Given the description of an element on the screen output the (x, y) to click on. 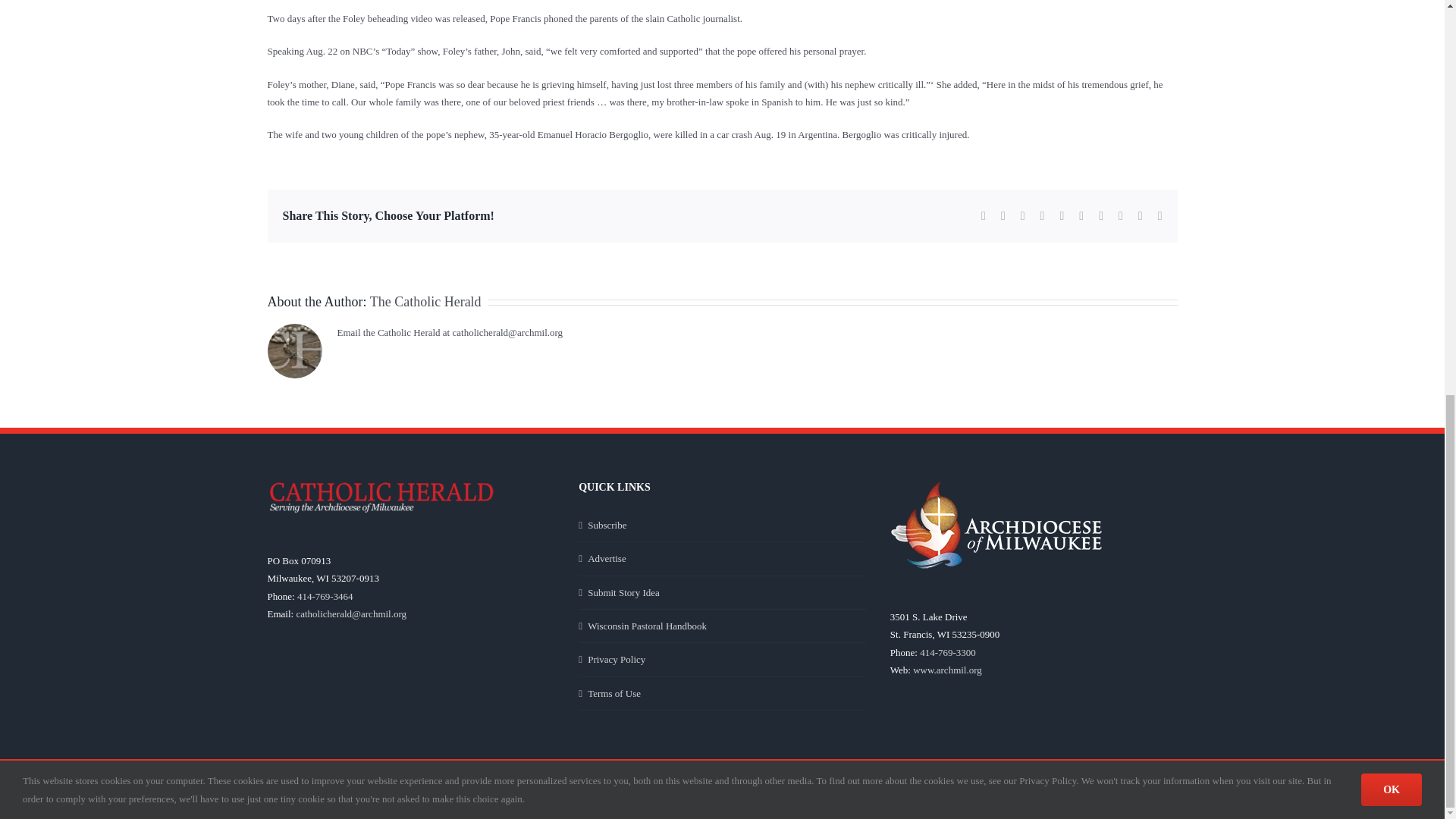
Posts by The Catholic Herald (425, 301)
